Given the description of an element on the screen output the (x, y) to click on. 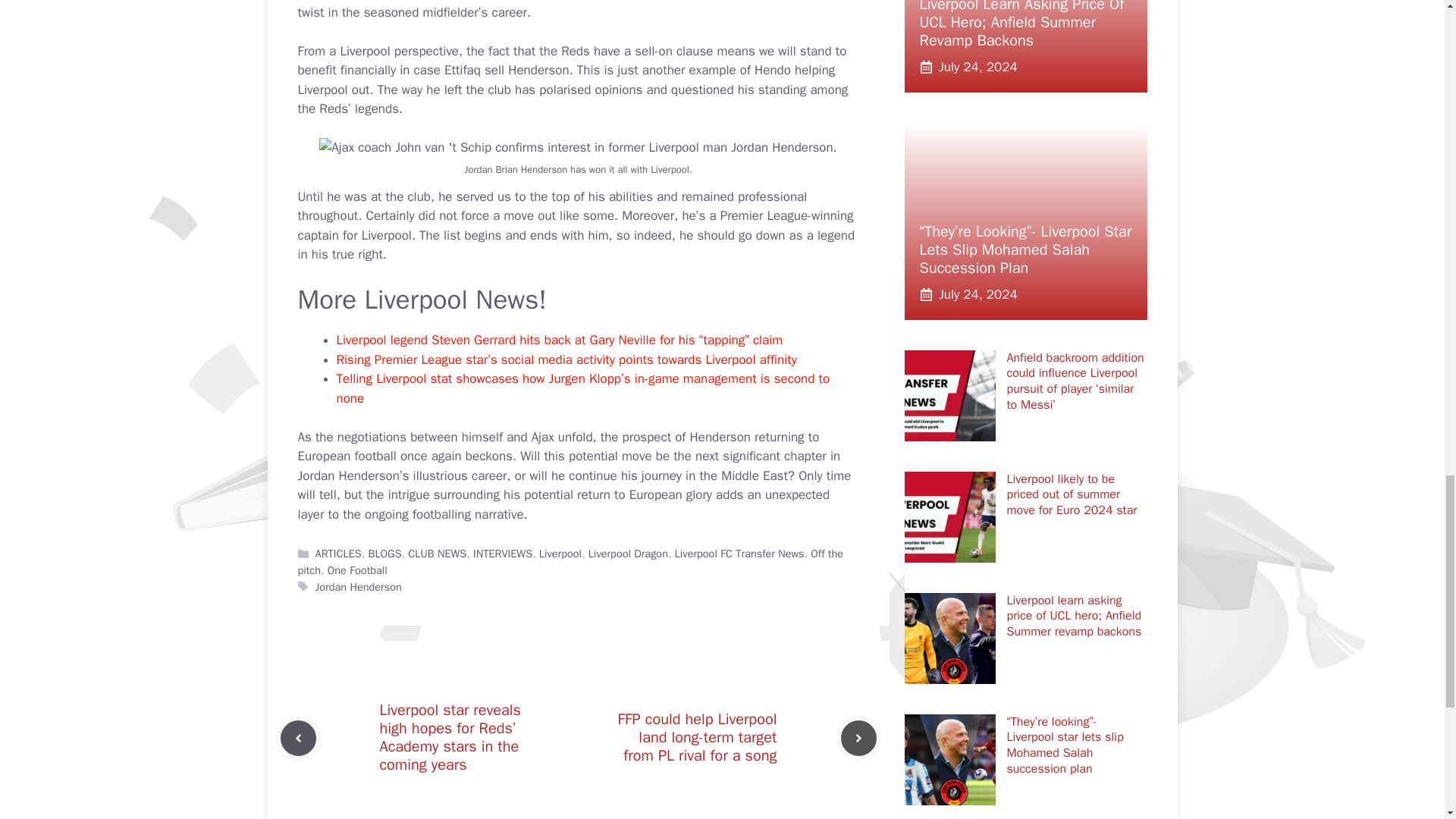
One Football (357, 570)
Liverpool (559, 553)
Liverpool FC Transfer News (740, 553)
Liverpool Dragon (628, 553)
INTERVIEWS (502, 553)
BLOGS (384, 553)
CLUB NEWS (436, 553)
Off the pitch (570, 562)
Jordan Henderson (358, 586)
ARTICLES (338, 553)
